Given the description of an element on the screen output the (x, y) to click on. 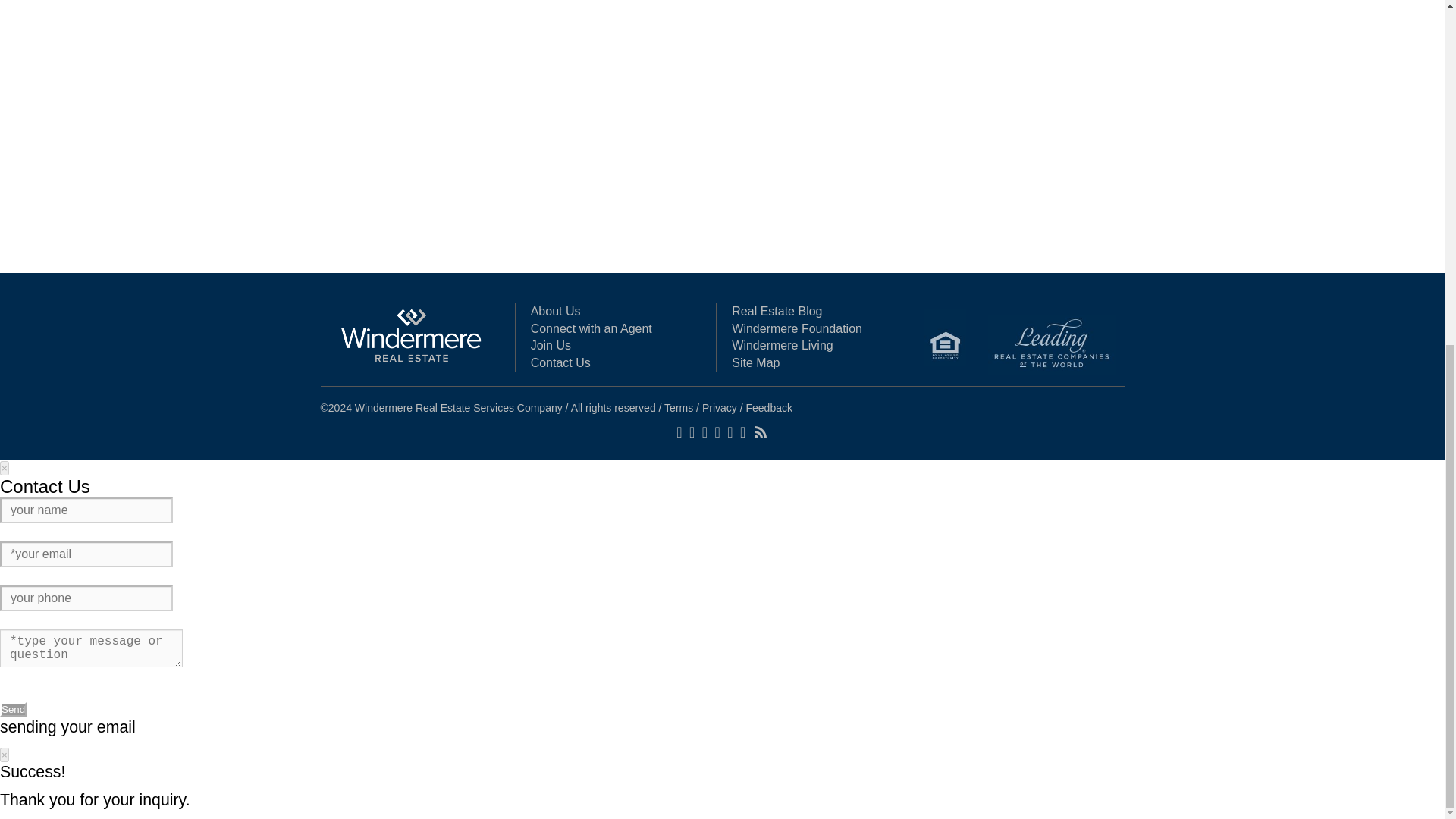
About Us (555, 310)
Real Estate Blog (777, 310)
Feedback (768, 408)
Join Us (550, 345)
Windermere Living (782, 345)
w-footer-Leading-RE (1051, 344)
Contact Us (561, 362)
Windermere Foundation (796, 327)
Site Map (755, 362)
Privacy (718, 408)
Terms (678, 408)
Connect with an Agent (591, 327)
Send (13, 708)
